Given the description of an element on the screen output the (x, y) to click on. 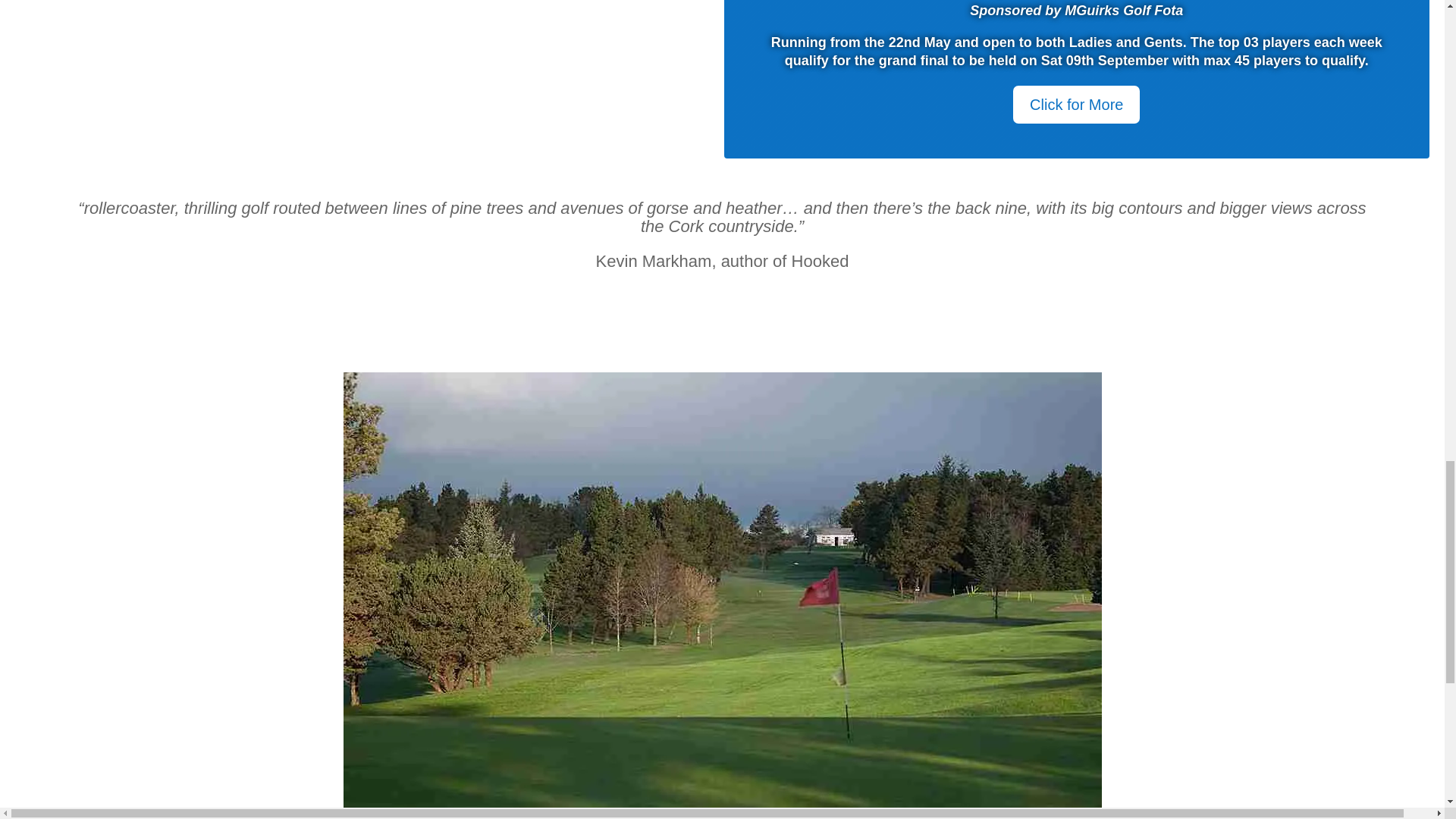
Click for More (1076, 104)
